Given the description of an element on the screen output the (x, y) to click on. 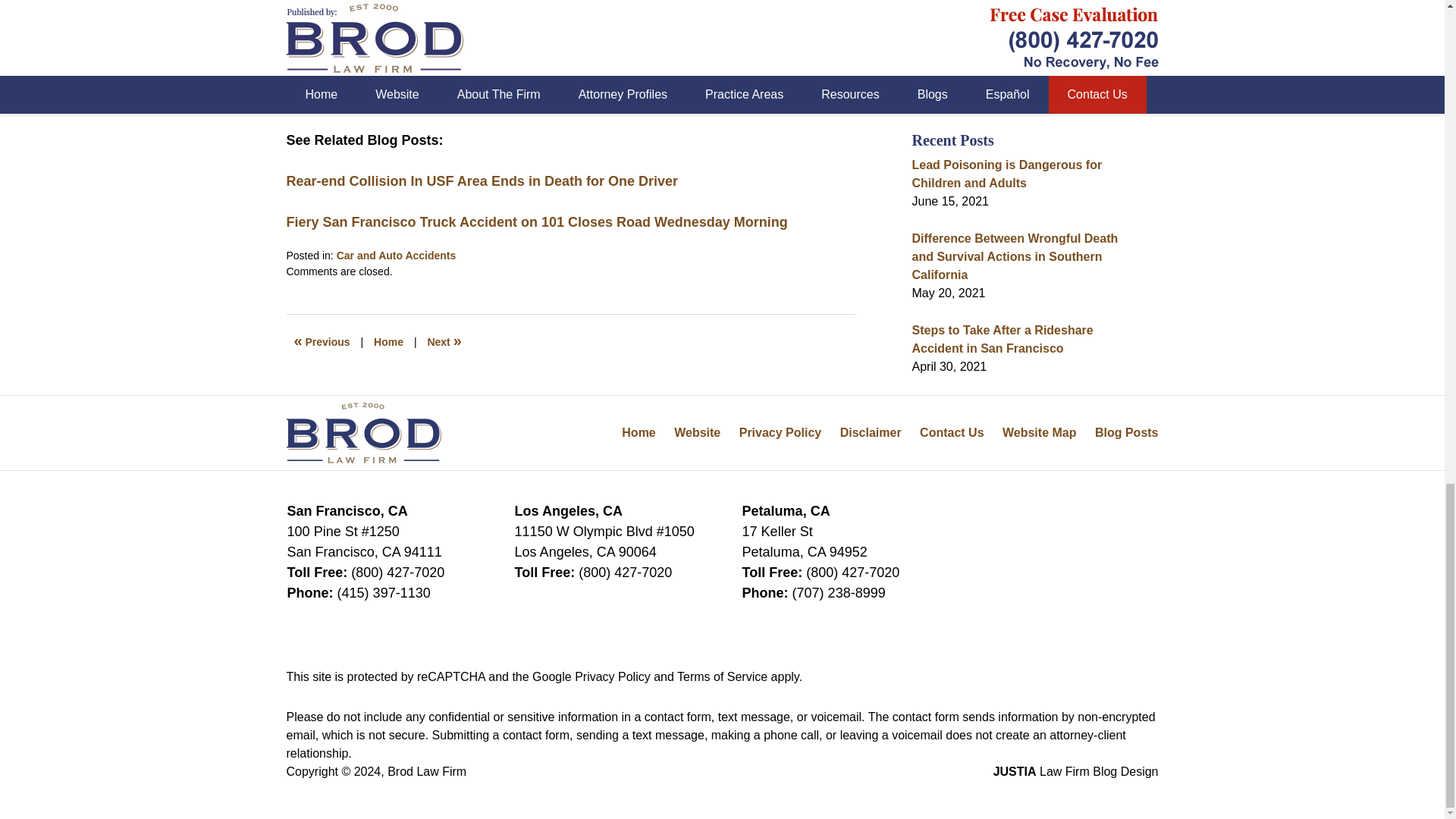
San Francisco auto accident attorneys (570, 2)
San Francisco car accident (596, 58)
Car and Auto Accidents (396, 255)
Rear-end Collision In USF Area Ends in Death for One Driver (482, 181)
View all posts in Car and Auto Accidents (396, 255)
Home (388, 341)
75 Year Old San Francisco Man Evicted from Apartment (443, 341)
